Given the description of an element on the screen output the (x, y) to click on. 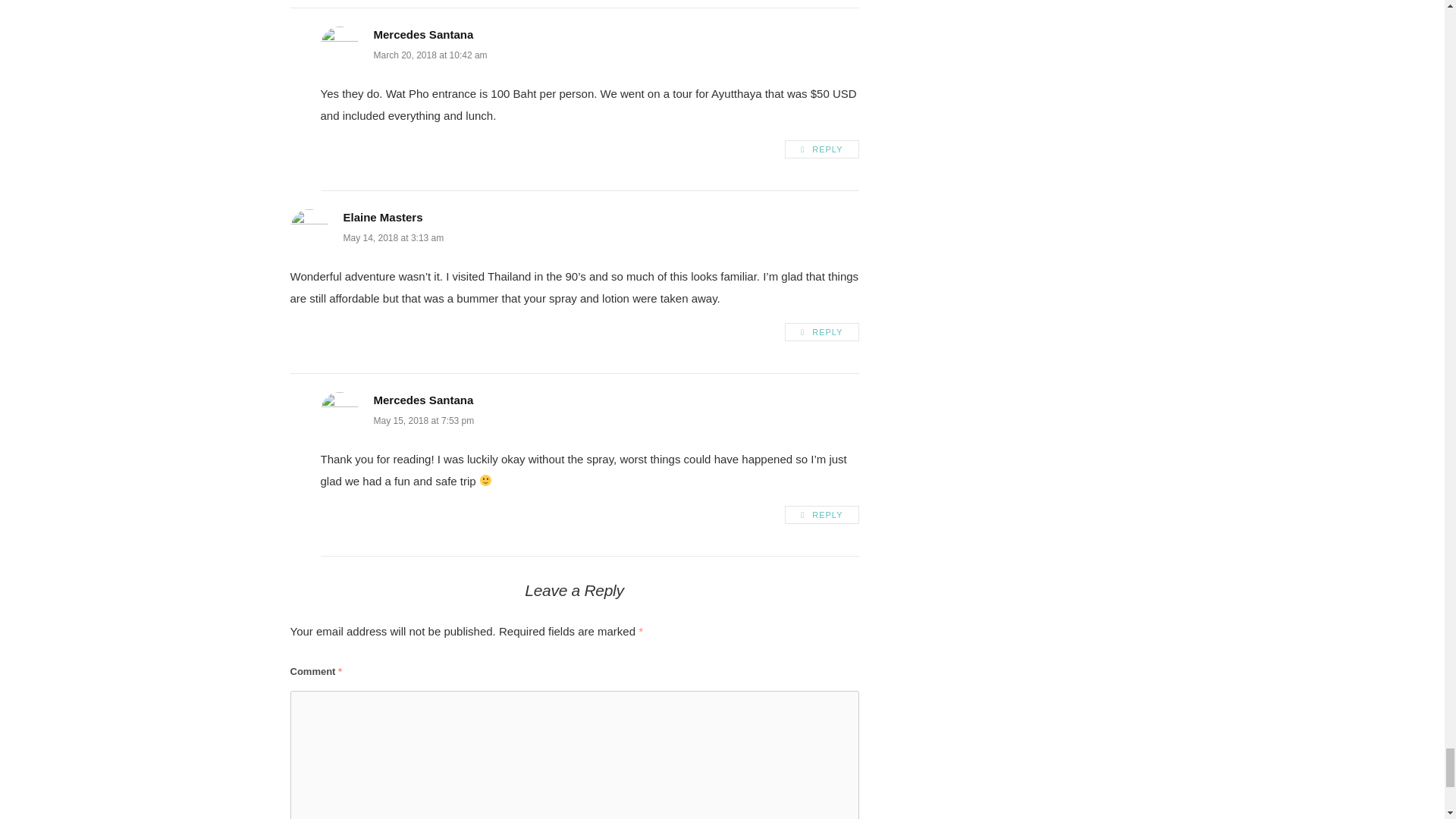
May 15, 2018 at 7:53 pm (423, 420)
REPLY (821, 331)
Mercedes Santana (422, 399)
REPLY (821, 149)
Elaine Masters (382, 216)
May 14, 2018 at 3:13 am (393, 237)
Mercedes Santana (422, 33)
March 20, 2018 at 10:42 am (429, 54)
REPLY (821, 515)
